Given the description of an element on the screen output the (x, y) to click on. 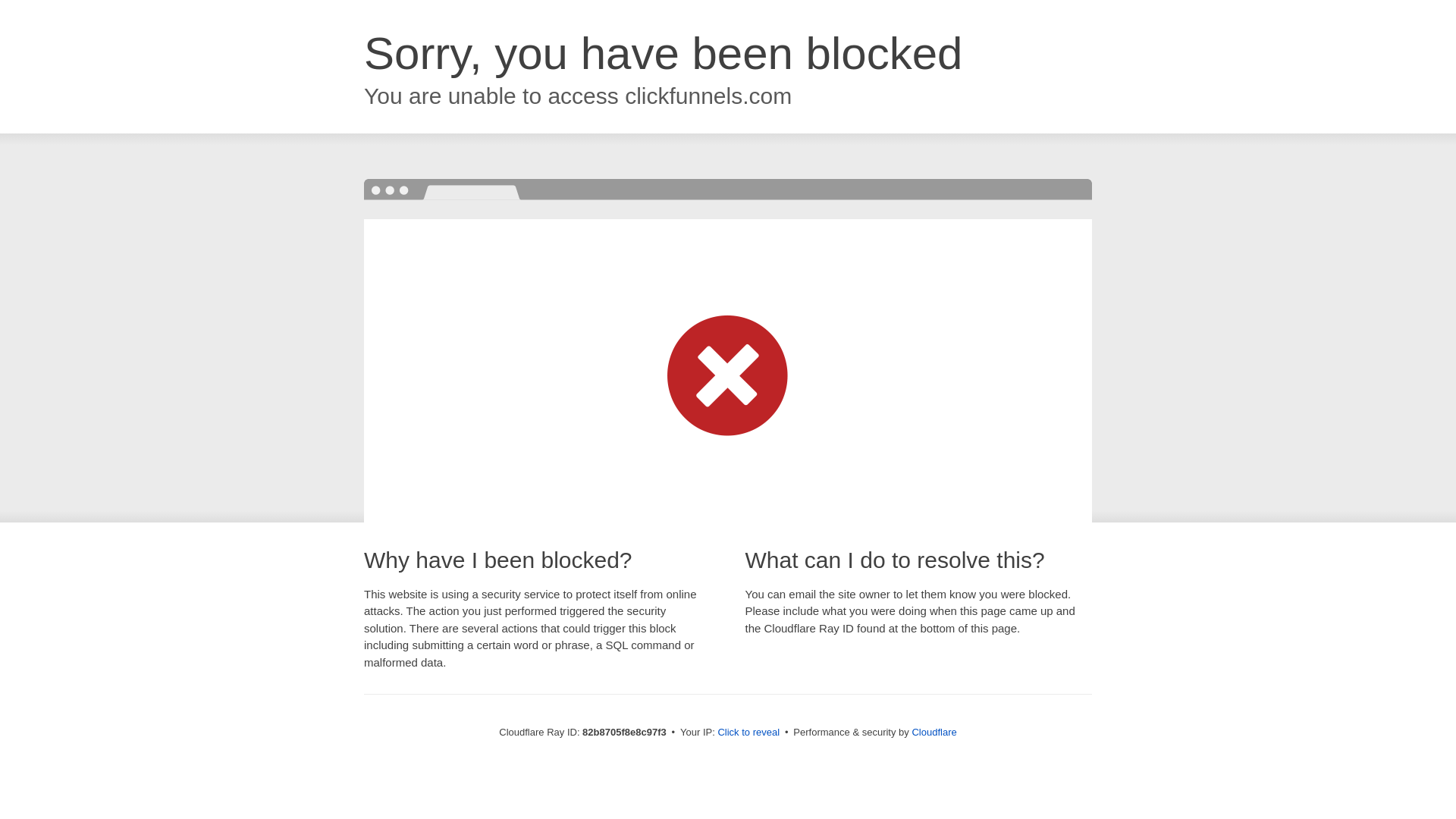
Click to reveal Element type: text (748, 732)
Cloudflare Element type: text (933, 731)
